Given the description of an element on the screen output the (x, y) to click on. 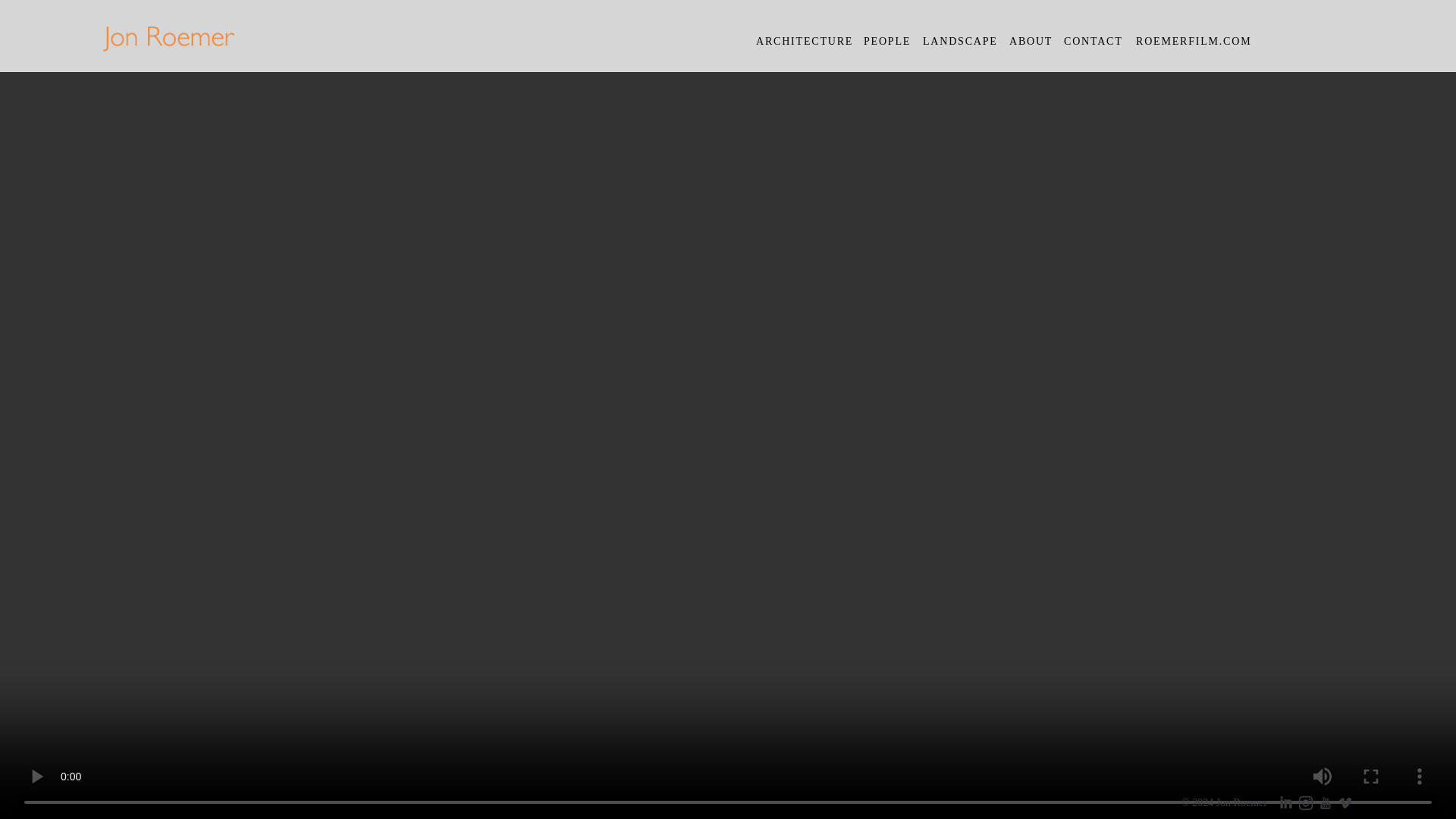
LANDSCAPE (960, 41)
PEOPLE (887, 41)
ROEMERFILM.COM (1192, 41)
CONTACT (1093, 41)
ABOUT (1030, 41)
ARCHITECTURE (804, 41)
